Given the description of an element on the screen output the (x, y) to click on. 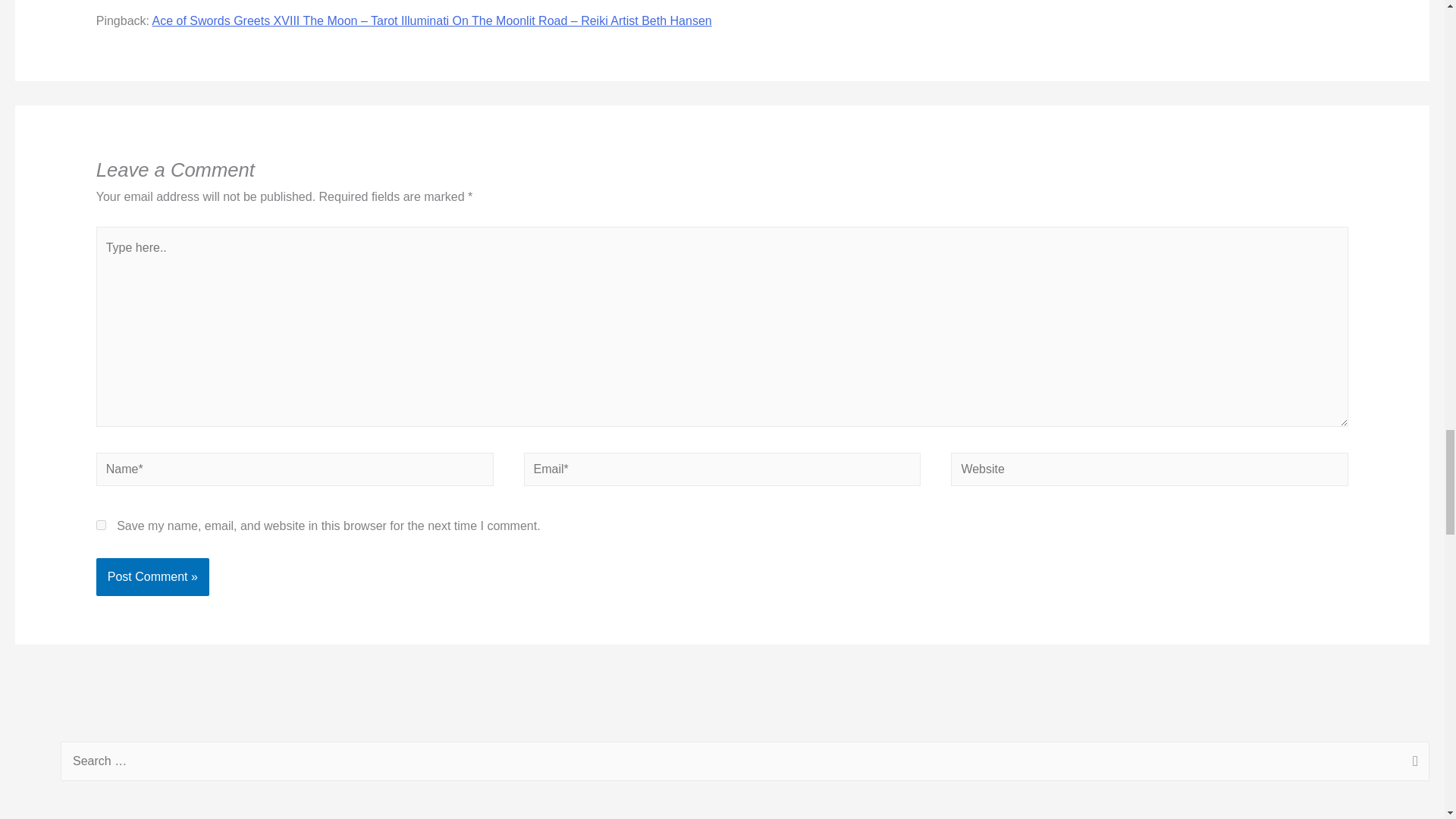
yes (101, 524)
